Given the description of an element on the screen output the (x, y) to click on. 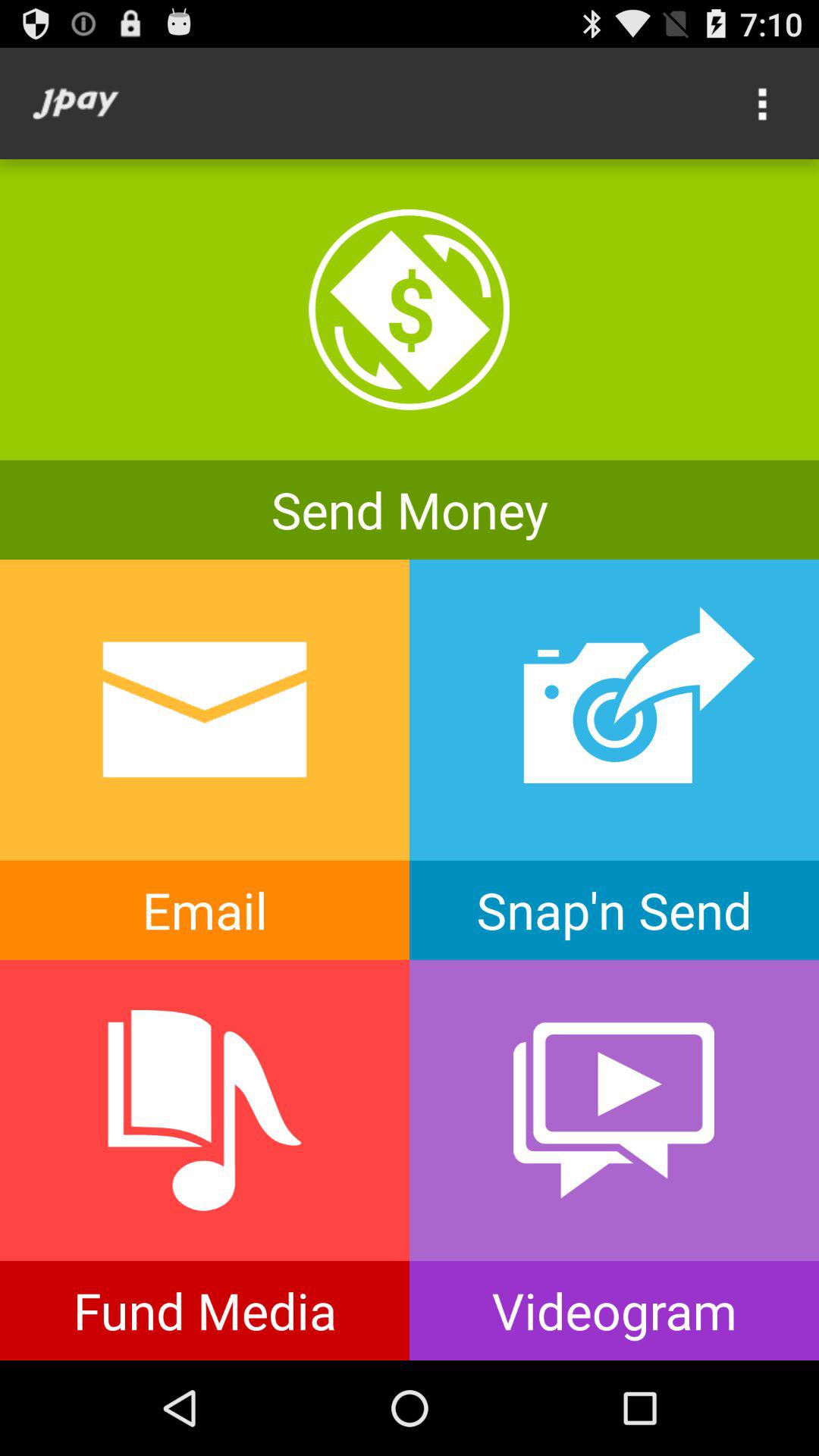
take and send photo (614, 759)
